Given the description of an element on the screen output the (x, y) to click on. 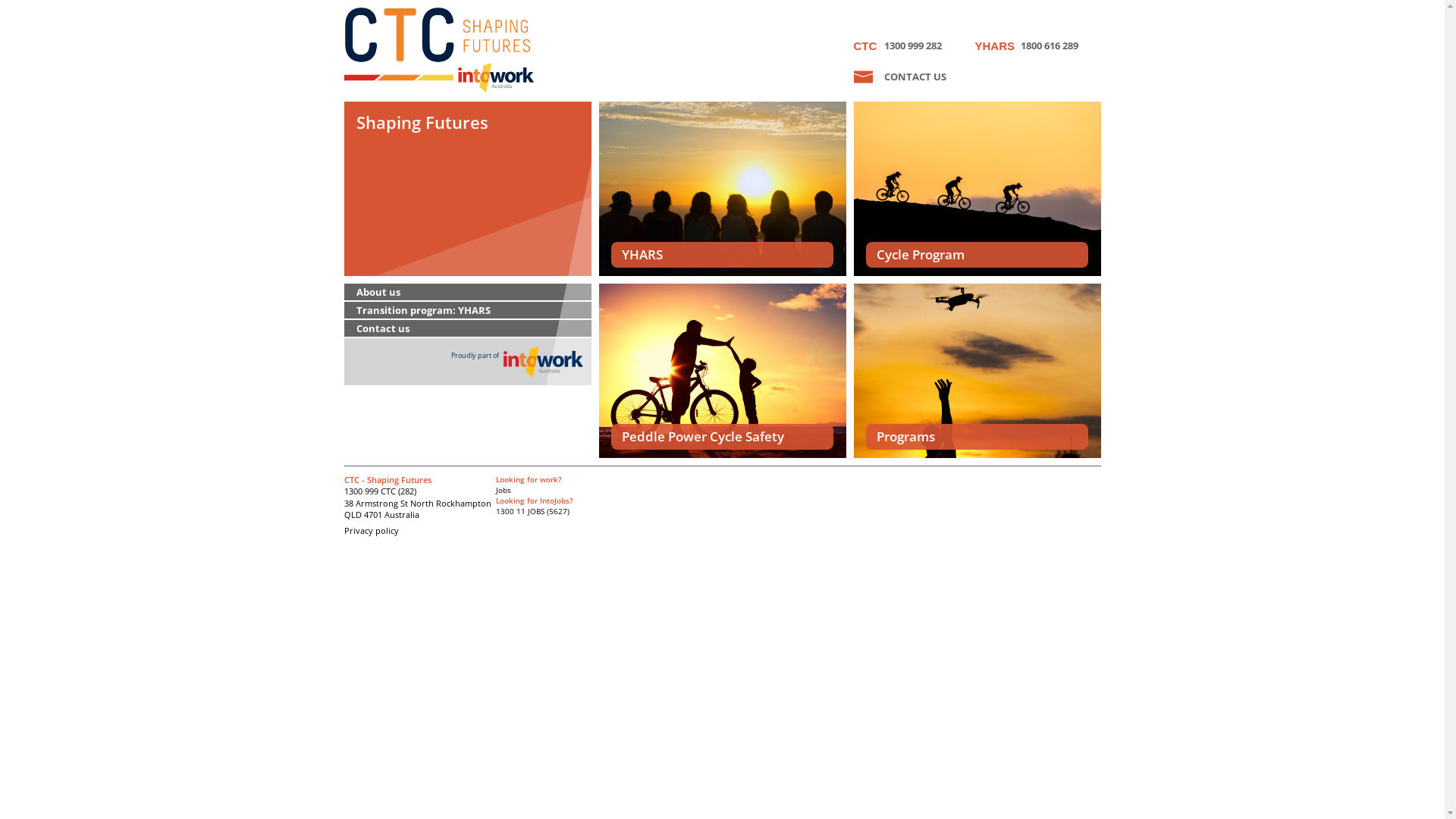
1800 616 289 Element type: text (1035, 45)
Privacy policy Element type: text (371, 530)
Cycle Program Element type: text (977, 188)
About us Element type: text (467, 292)
Peddle Power Cycle Safety Element type: text (722, 370)
Jobs Element type: text (503, 489)
1300 999 282 Element type: text (914, 45)
Shaping Futures Element type: text (467, 188)
CONTACT US Element type: text (914, 76)
1300 999 CTC (282) Element type: text (380, 490)
YHARS Element type: text (722, 188)
Programs Element type: text (977, 370)
Contact us Element type: text (467, 329)
1300 11 JOBS (5627) Element type: text (532, 510)
Transition program: YHARS Element type: text (467, 310)
